Given the description of an element on the screen output the (x, y) to click on. 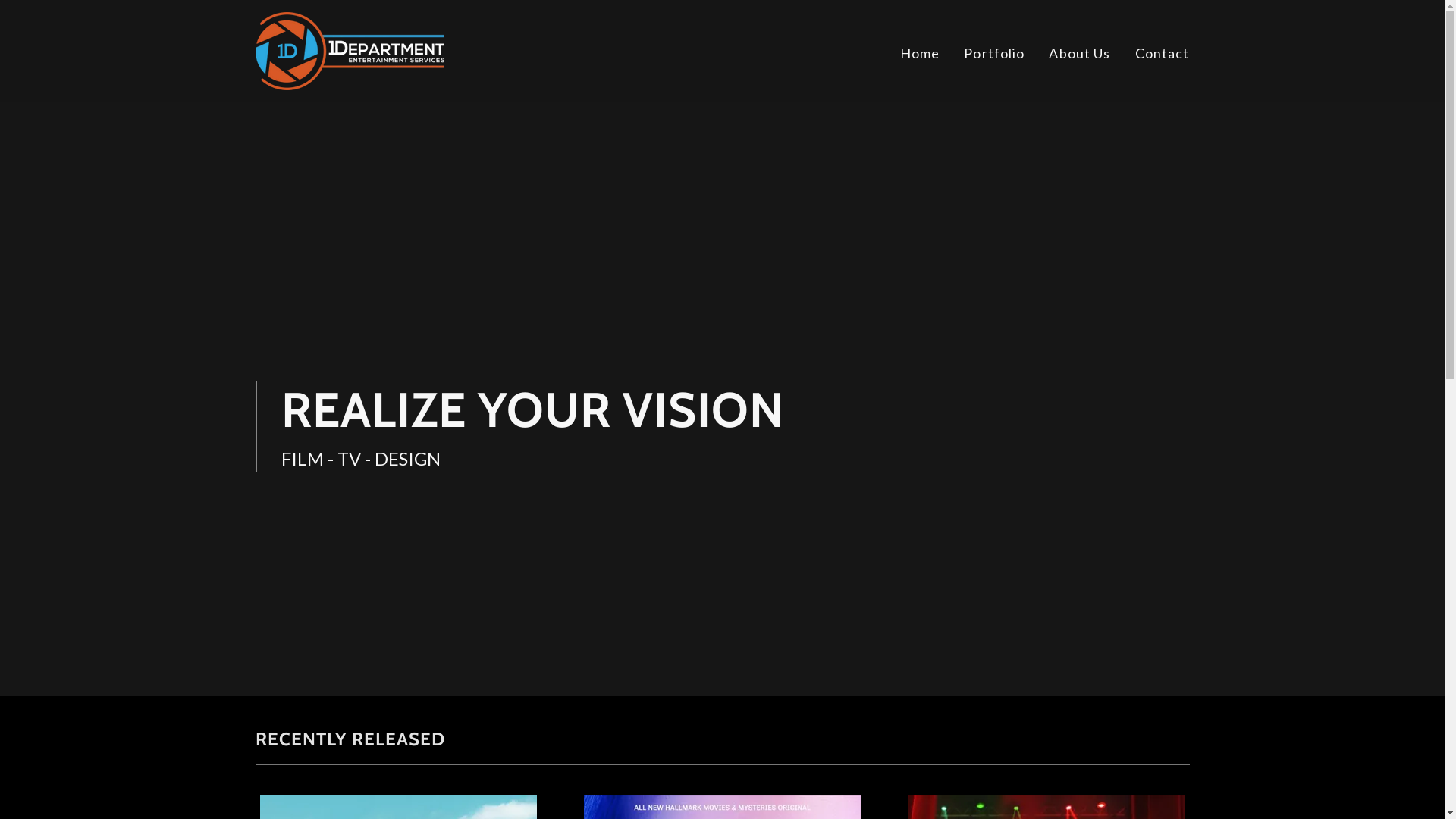
1Department  Element type: hover (348, 48)
Portfolio Element type: text (994, 52)
About Us Element type: text (1079, 52)
Contact Element type: text (1162, 52)
Home Element type: text (920, 54)
